Given the description of an element on the screen output the (x, y) to click on. 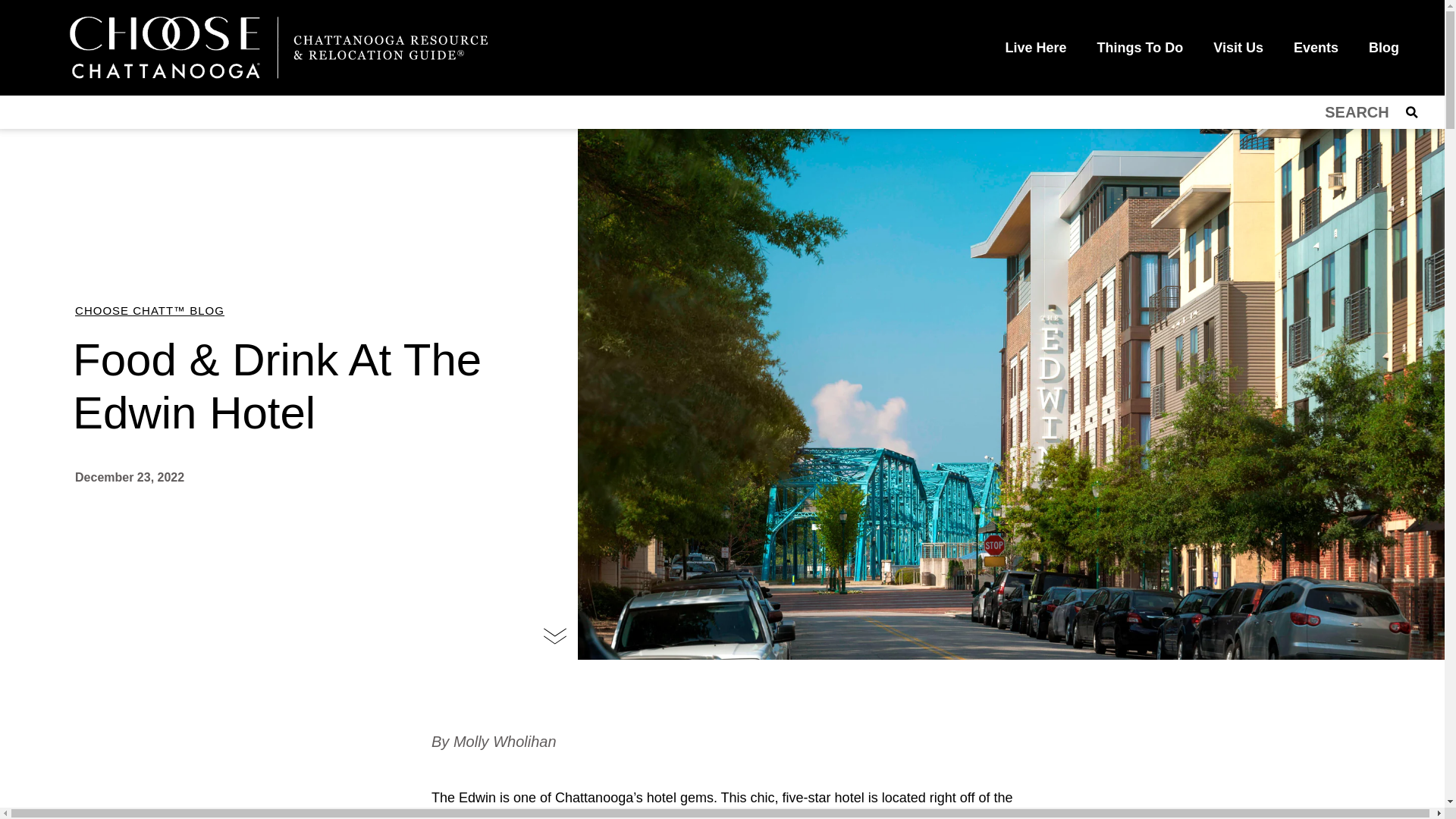
Live Here (1035, 47)
Things To Do (1139, 47)
